Given the description of an element on the screen output the (x, y) to click on. 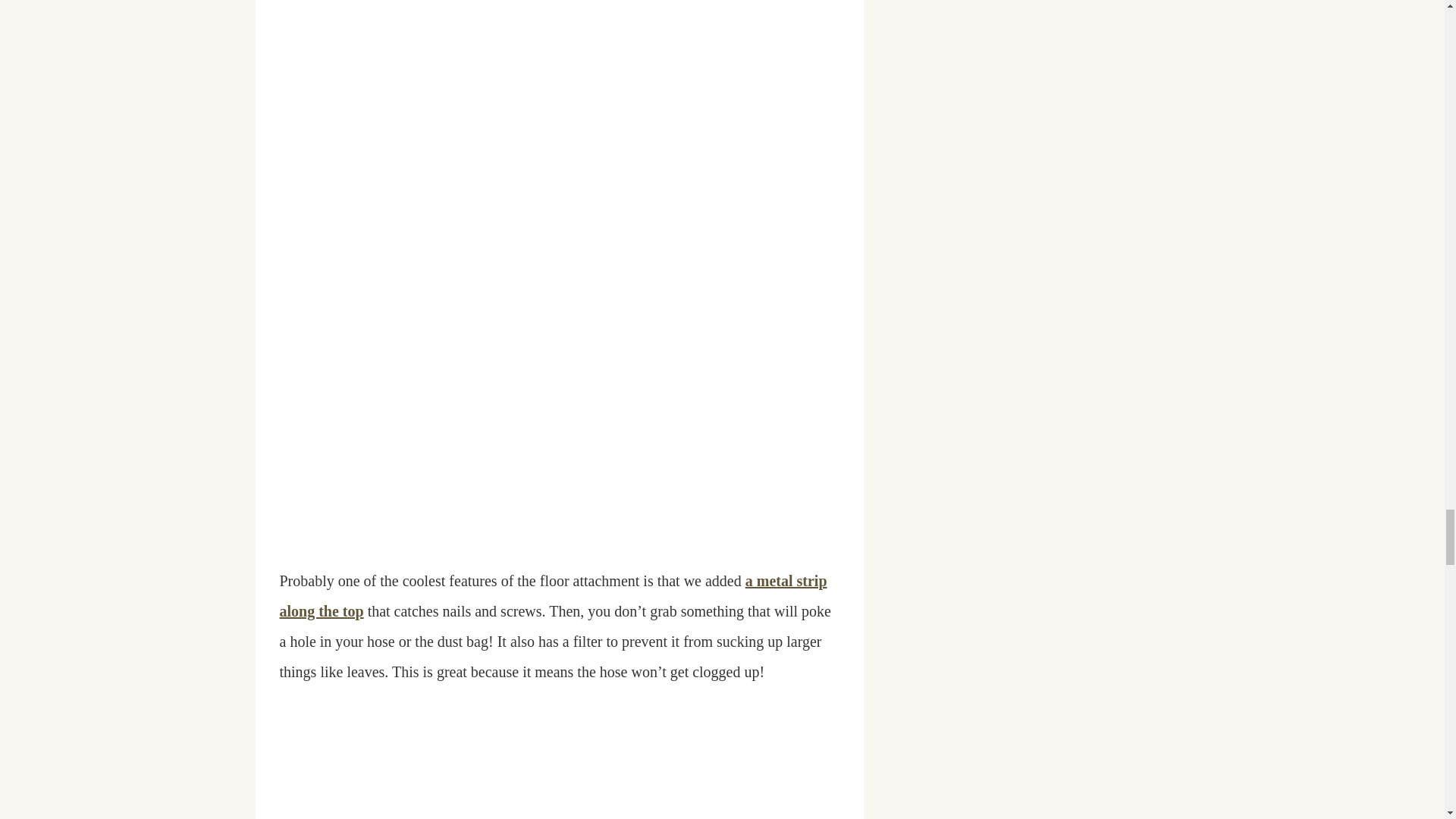
a metal strip along the top (553, 595)
